Given the description of an element on the screen output the (x, y) to click on. 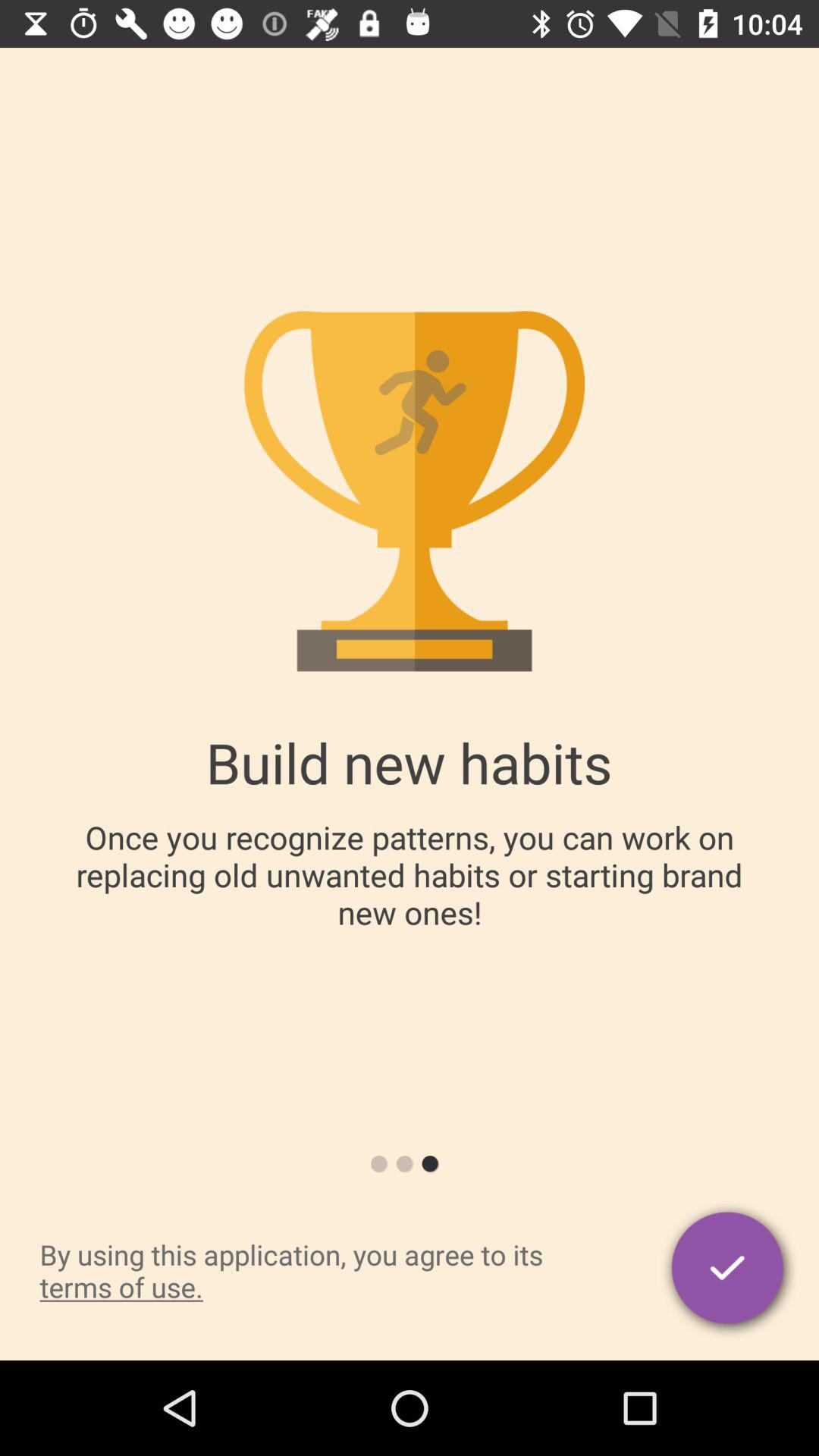
choose the icon at the bottom right corner (729, 1270)
